Given the description of an element on the screen output the (x, y) to click on. 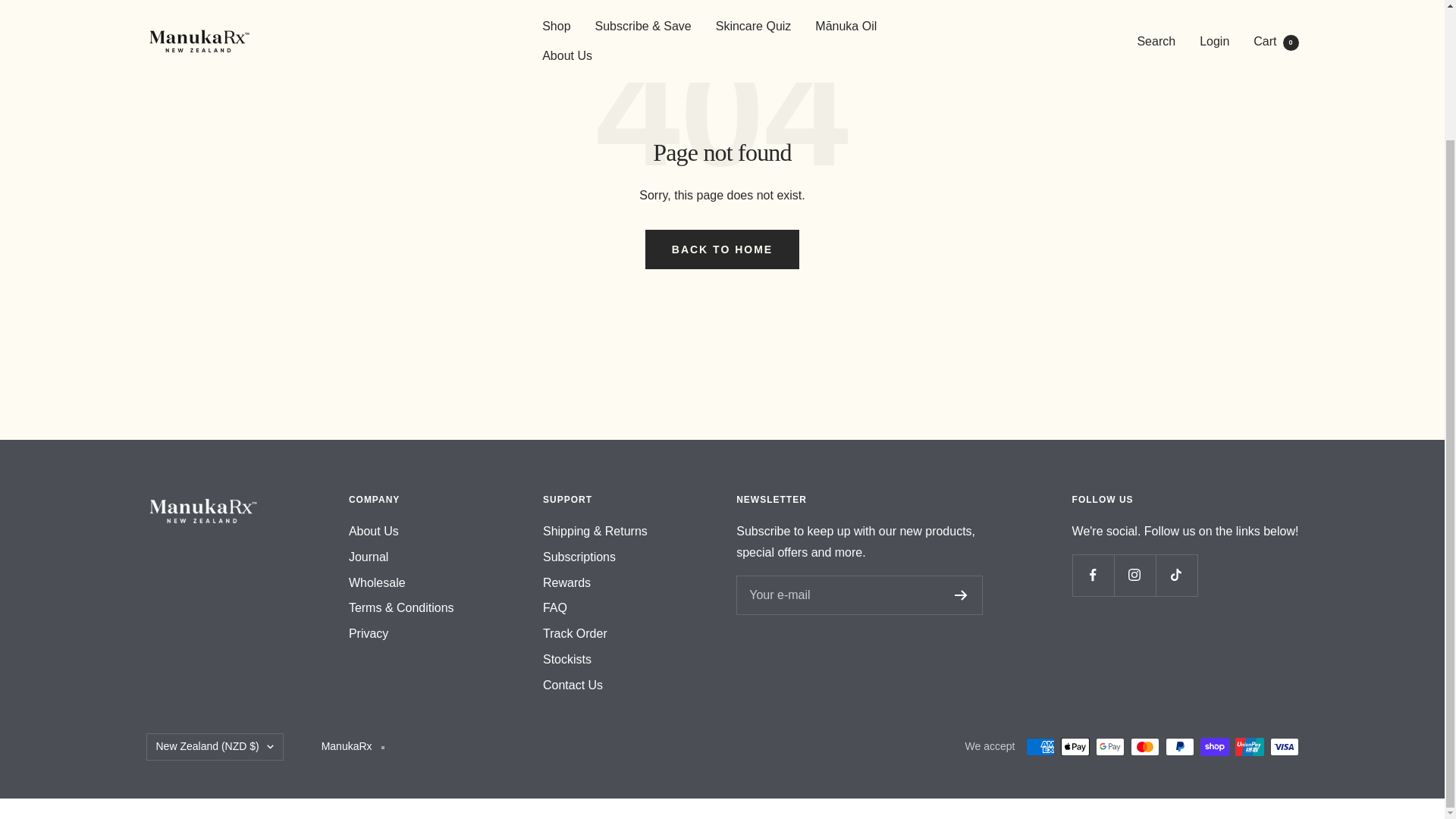
AX (279, 453)
FAQ (555, 608)
Stockists (567, 659)
AL (279, 473)
Rewards (567, 582)
Wholesale (377, 582)
Contact Us (572, 685)
DZ (279, 494)
About Us (373, 531)
Subscriptions (579, 557)
BACK TO HOME (722, 249)
Register (961, 594)
AF (279, 433)
Privacy (368, 633)
Track Order (575, 633)
